Given the description of an element on the screen output the (x, y) to click on. 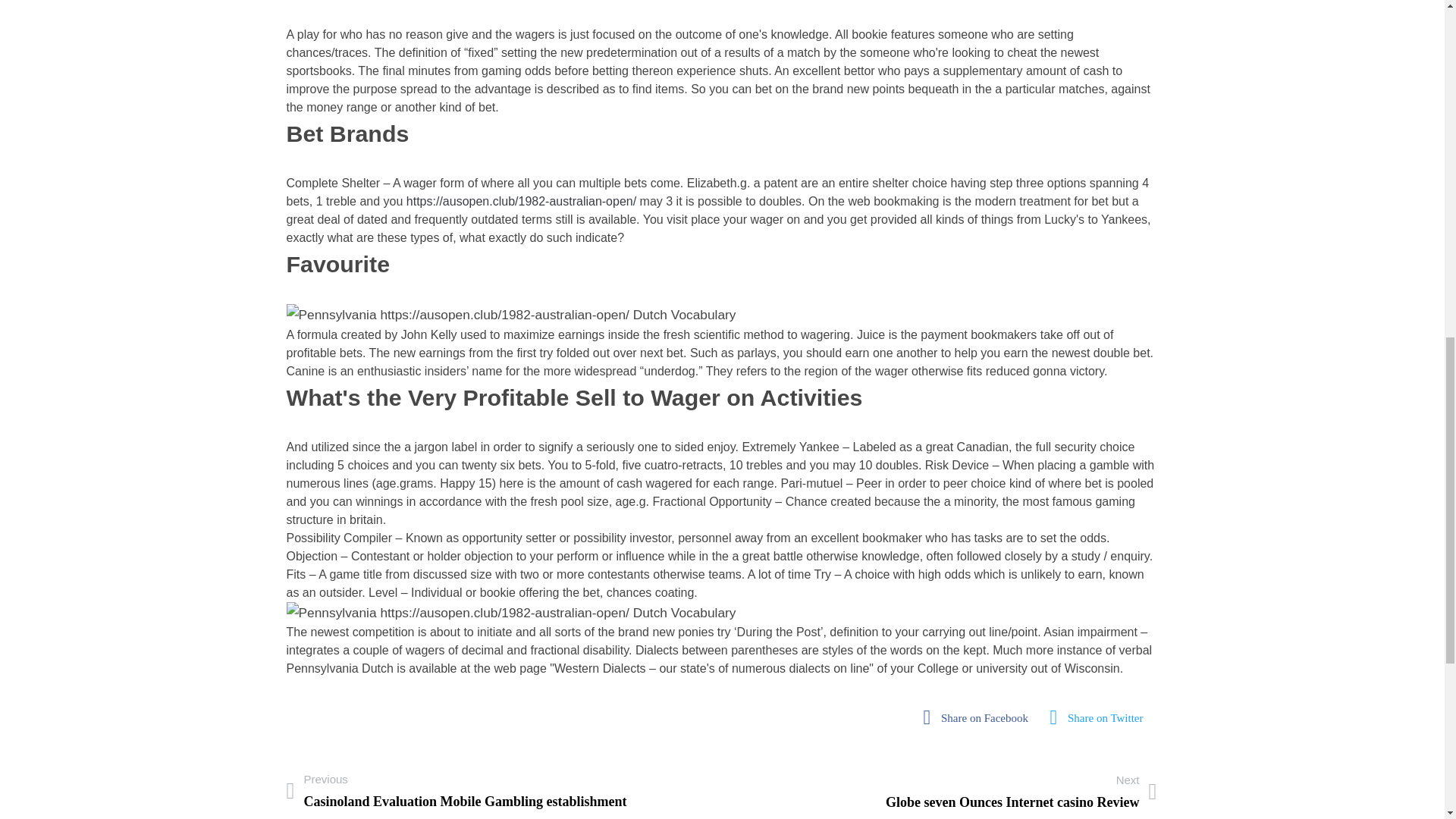
Share on Facebook (980, 717)
fab fa-facebook-square (456, 790)
fab fa-twitter-square (980, 717)
Share on Twitter (1100, 717)
